Given the description of an element on the screen output the (x, y) to click on. 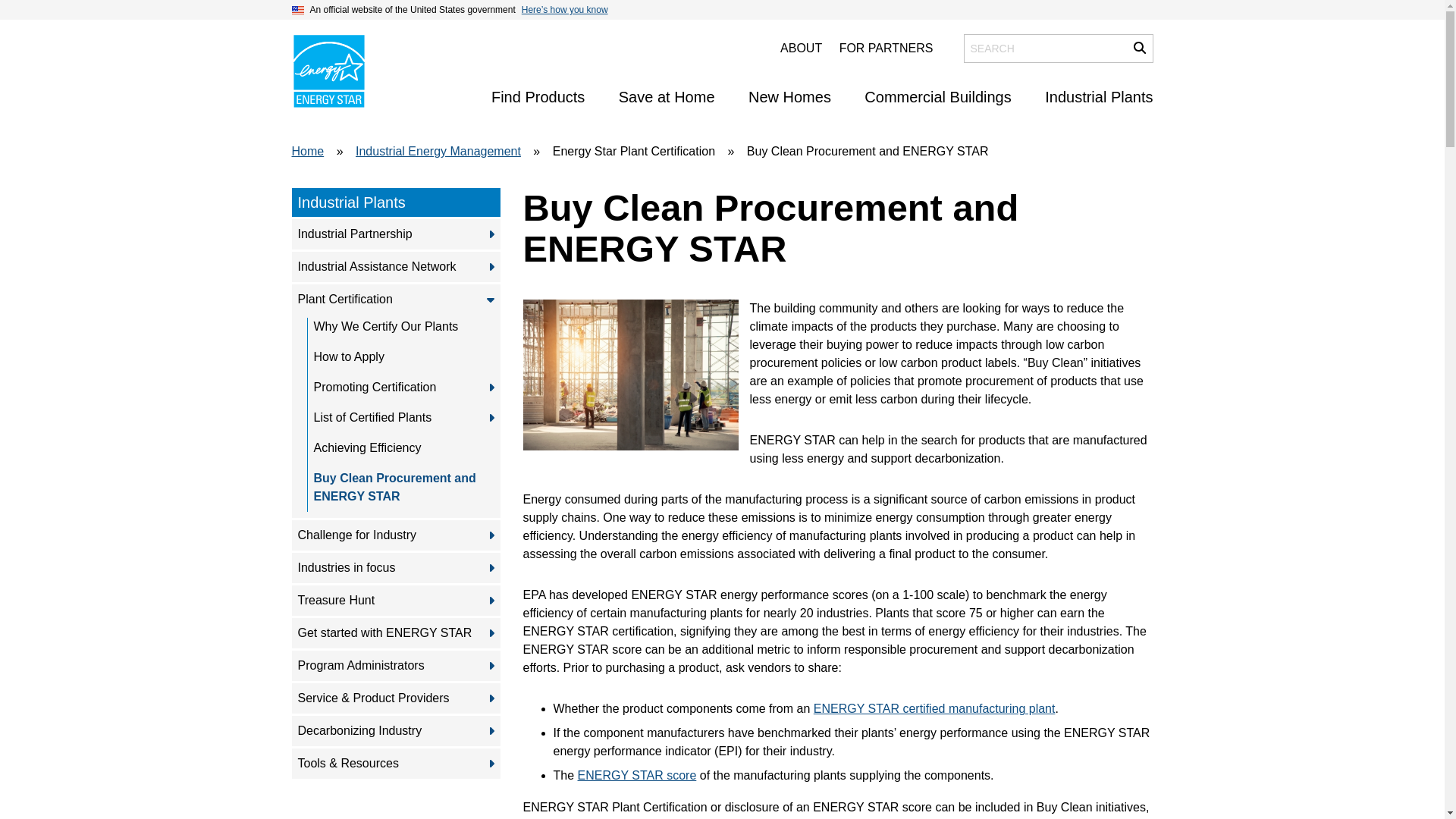
Submit Search (1139, 47)
Find Products (538, 96)
Skip to main content (721, 14)
New Homes (789, 96)
Industrial Plants (1099, 96)
Save at Home (666, 96)
Home (328, 70)
Commercial Buildings (937, 96)
ABOUT (801, 47)
ENERGY STAR (328, 70)
